Given the description of an element on the screen output the (x, y) to click on. 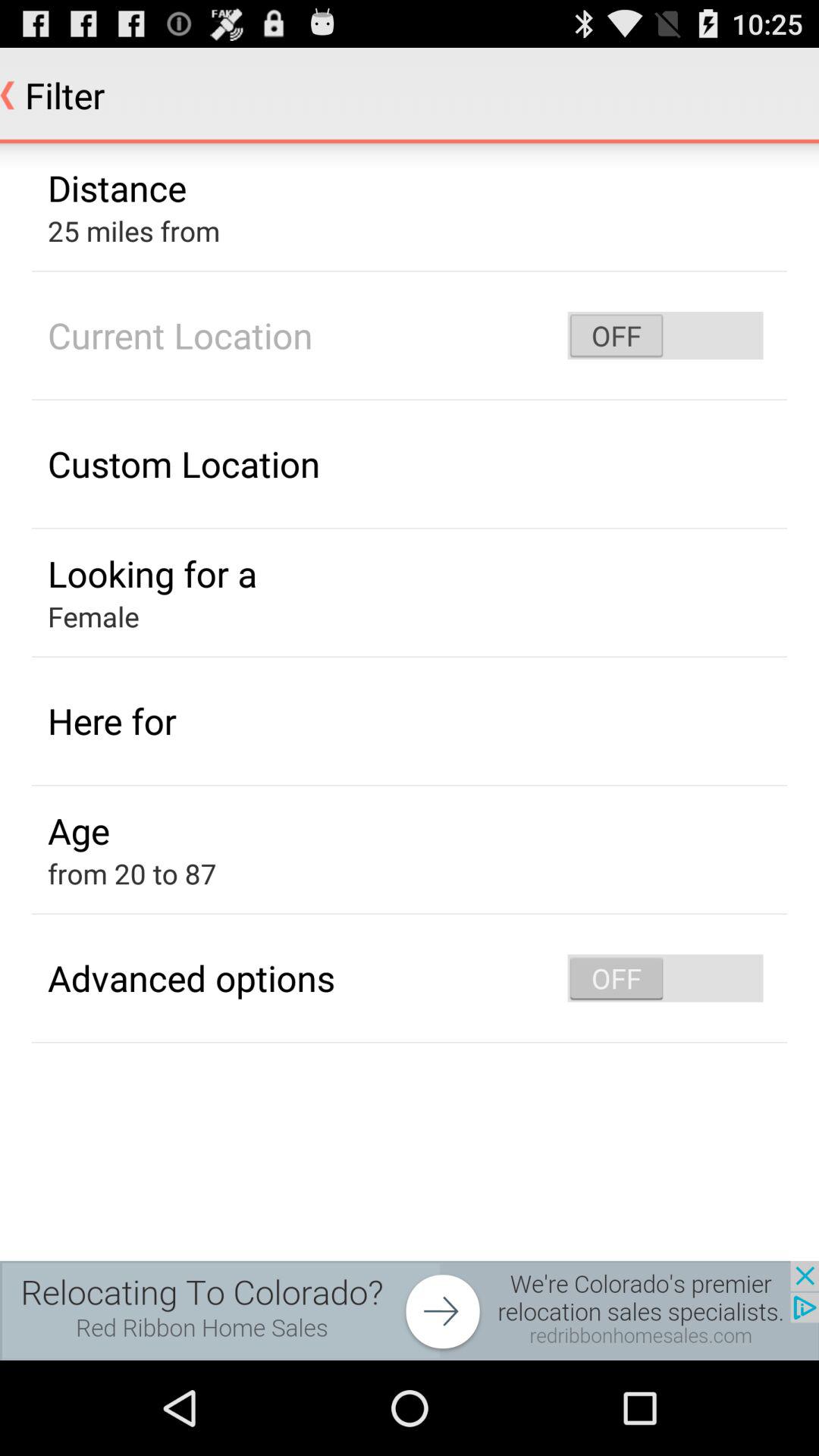
go to search (409, 1310)
